Given the description of an element on the screen output the (x, y) to click on. 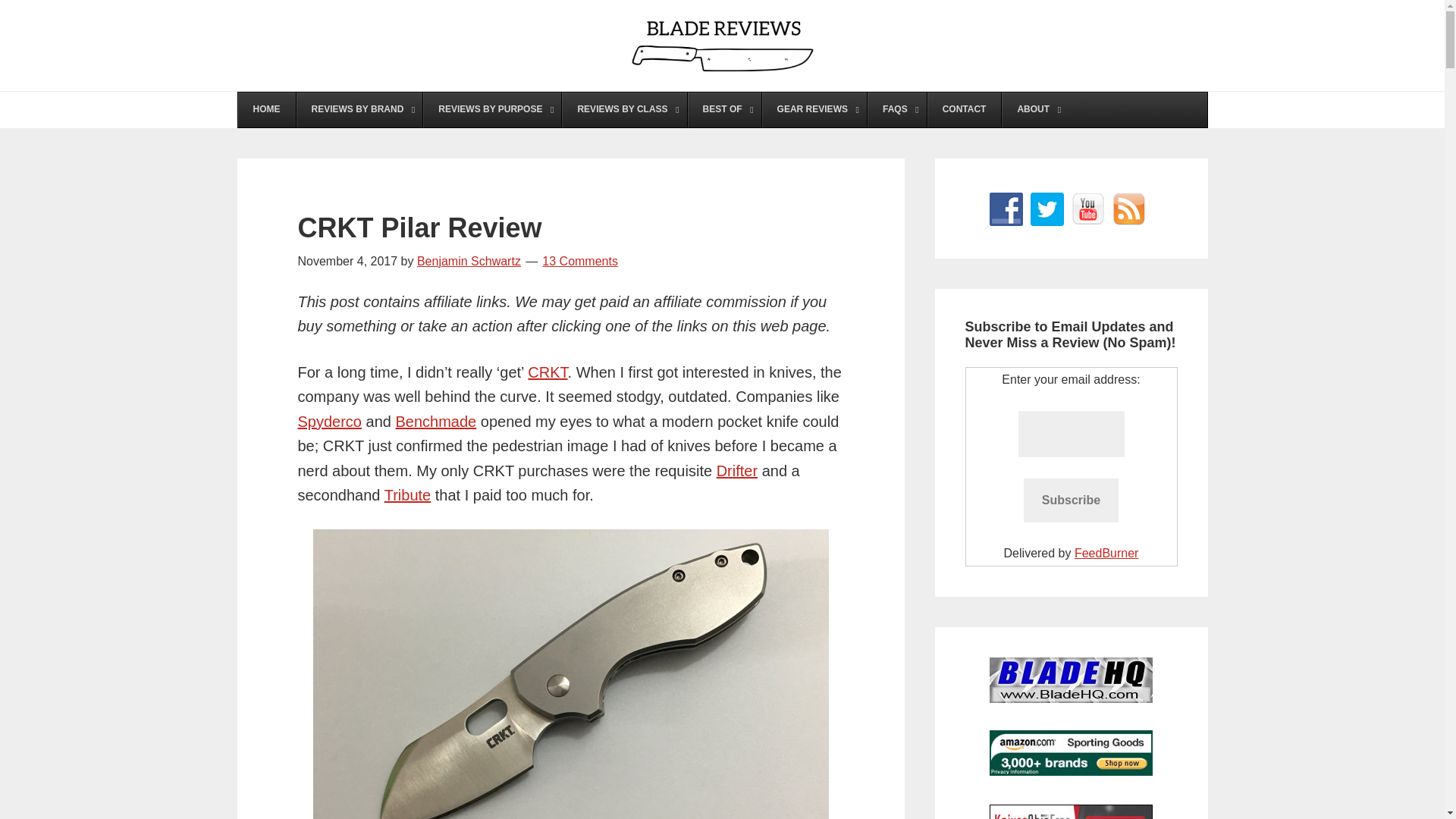
BladeReviews.com (721, 45)
REVIEWS BY BRAND (359, 109)
November 4, 2017 (347, 260)
HOME (266, 109)
Subscribe (1070, 500)
